Given the description of an element on the screen output the (x, y) to click on. 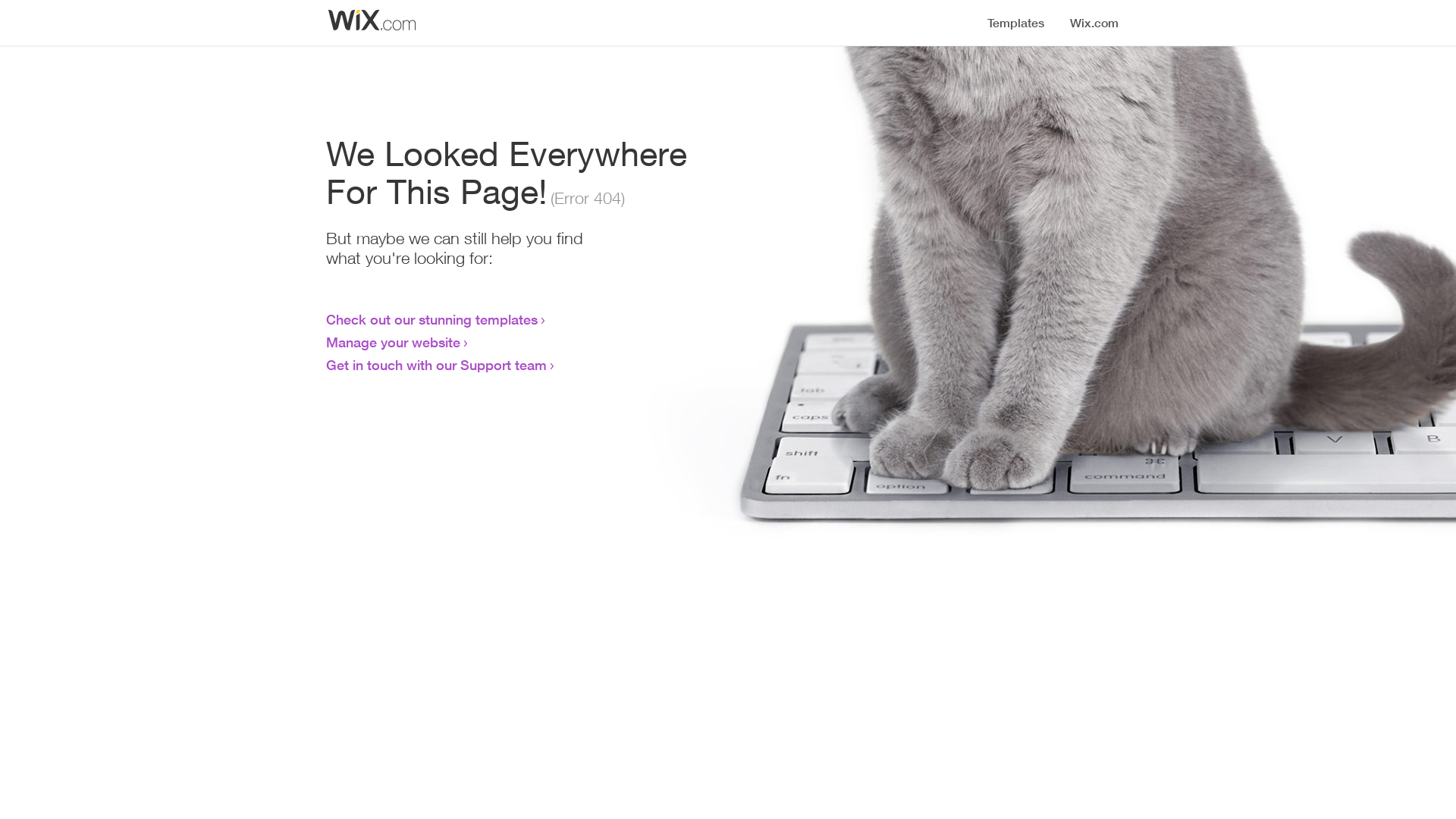
Get in touch with our Support team Element type: text (436, 364)
Manage your website Element type: text (393, 341)
Check out our stunning templates Element type: text (431, 318)
